Given the description of an element on the screen output the (x, y) to click on. 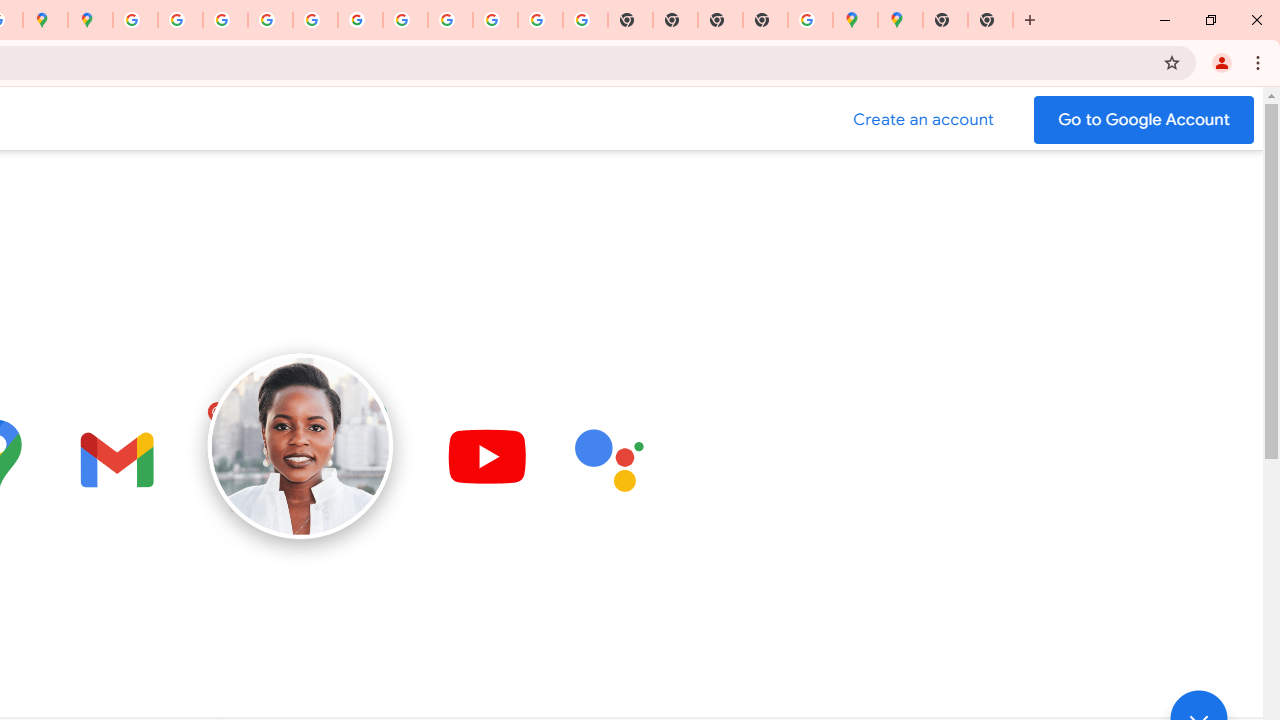
Google Maps (900, 20)
Create a Google Account (923, 119)
Sign in - Google Accounts (134, 20)
YouTube (404, 20)
New Tab (944, 20)
Google Maps (855, 20)
New Tab (765, 20)
